Given the description of an element on the screen output the (x, y) to click on. 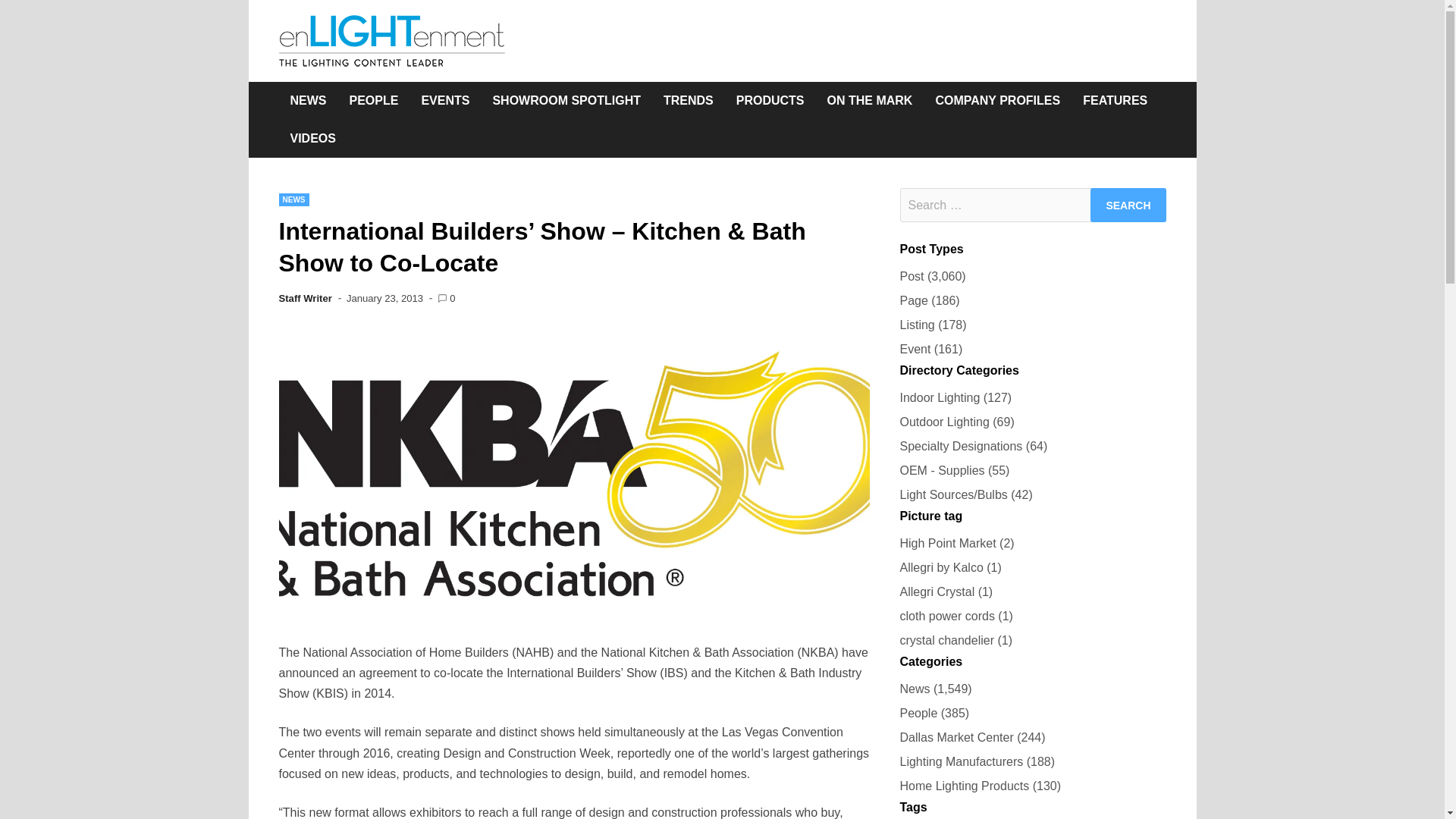
January 23, 2013 (384, 297)
NEWS (293, 199)
SHOWROOM SPOTLIGHT (566, 100)
EVENTS (444, 100)
NEWS (308, 100)
FEATURES (1114, 100)
Staff Writer (305, 297)
Search (1128, 204)
COMPANY PROFILES (997, 100)
PEOPLE (373, 100)
